Given the description of an element on the screen output the (x, y) to click on. 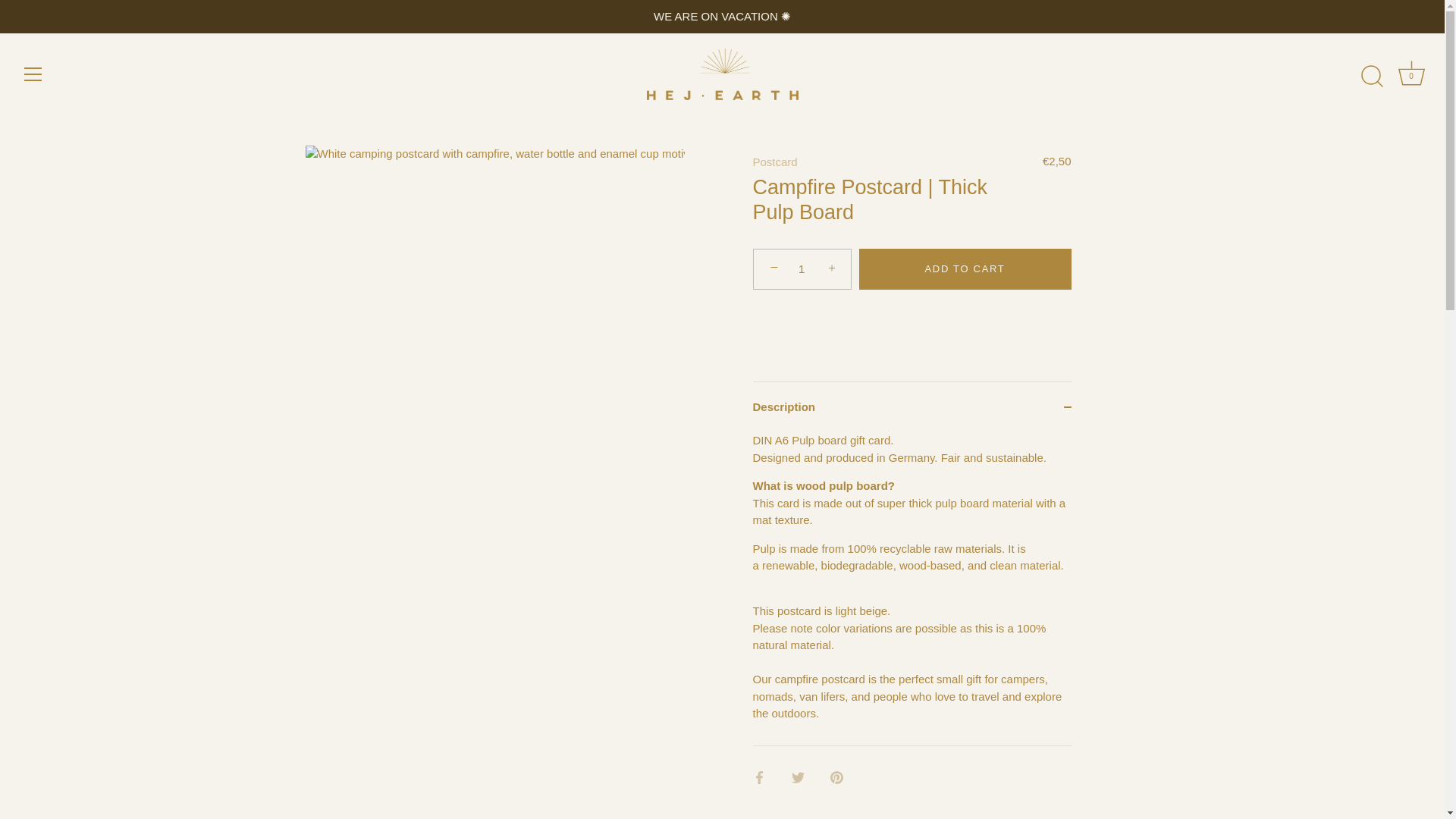
Share on Twitter (798, 776)
Pin it (836, 776)
Cart (1411, 72)
Share on Facebook (758, 776)
Postcard (774, 161)
ADD TO CART (964, 268)
Description (1411, 76)
